Given the description of an element on the screen output the (x, y) to click on. 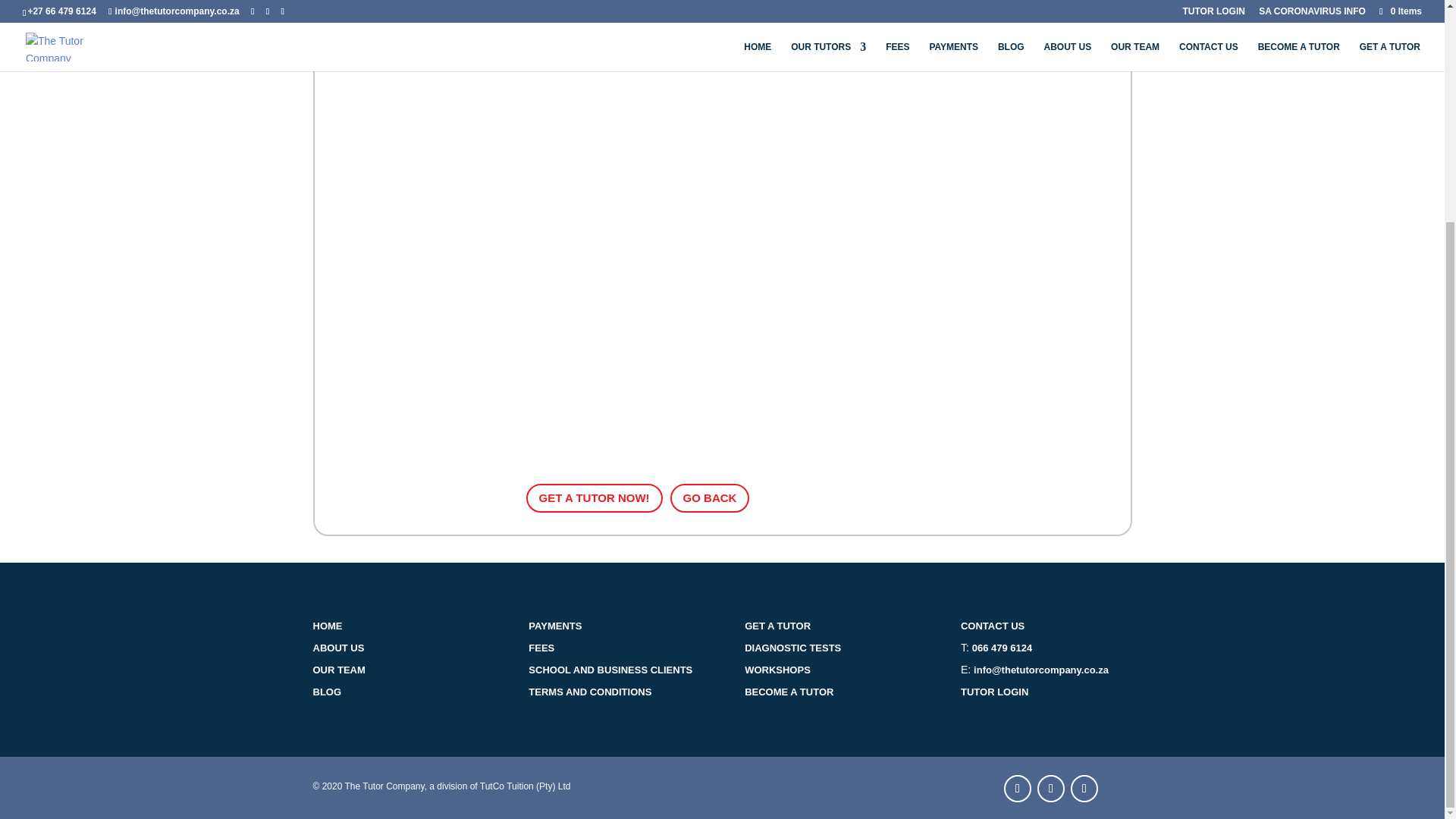
GET A TUTOR NOW! (593, 498)
Follow on Facebook (1017, 788)
DIAGNOSTIC TESTS (792, 647)
ABOUT US (338, 647)
066 479 6124 (1002, 647)
PAYMENTS (554, 625)
BECOME A TUTOR (788, 691)
HOME (327, 625)
GO BACK (709, 498)
CONTACT US (992, 625)
FEES (541, 647)
OUR TEAM (339, 669)
Follow on X (1050, 788)
TERMS AND CONDITIONS (589, 691)
WORKSHOPS (777, 669)
